Given the description of an element on the screen output the (x, y) to click on. 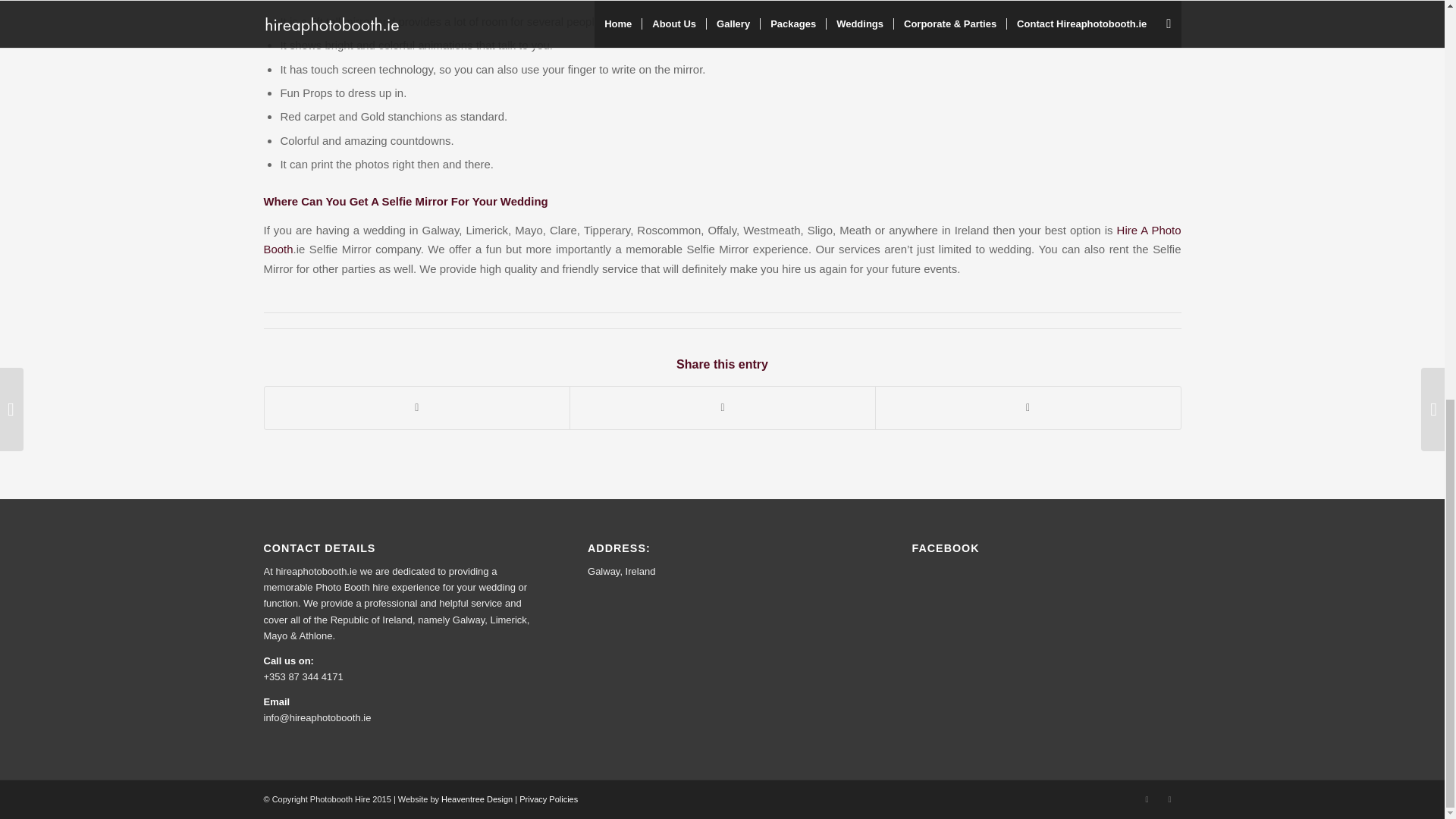
Privacy Policies (548, 798)
Twitter (1146, 798)
Hire A Photo Booth (721, 239)
Heaventree Design (476, 798)
Dribbble (1169, 798)
